Given the description of an element on the screen output the (x, y) to click on. 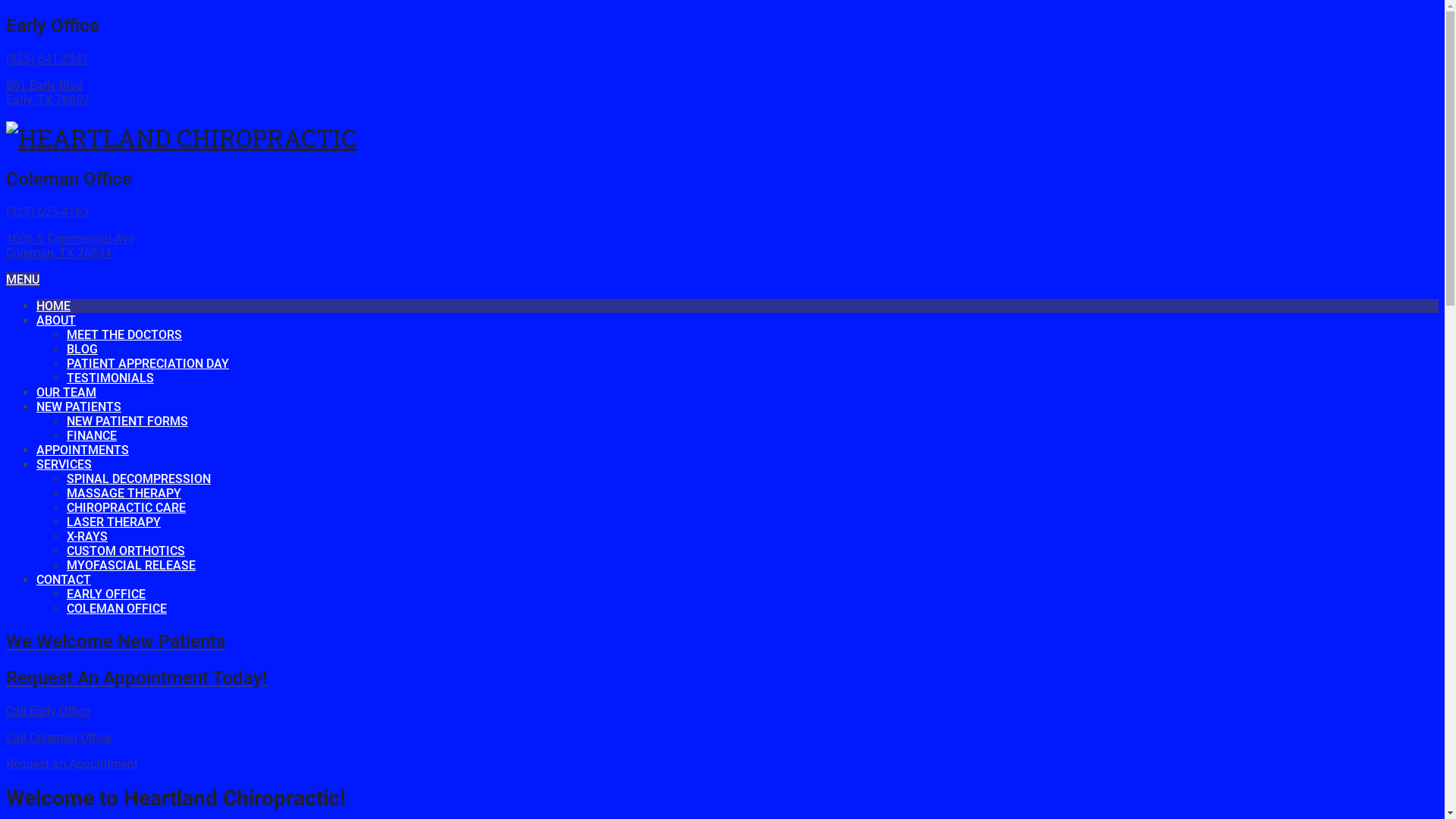
MYOFASCIAL RELEASE Element type: text (130, 565)
NEW PATIENTS Element type: text (78, 406)
OUR TEAM Element type: text (66, 392)
CONTACT Element type: text (63, 579)
MEET THE DOCTORS Element type: text (124, 334)
(325) 625-4163 Element type: text (47, 211)
FINANCE Element type: text (91, 435)
CHIROPRACTIC CARE Element type: text (125, 507)
Call Early Office Element type: text (48, 710)
X-RAYS Element type: text (86, 536)
TESTIMONIALS Element type: text (109, 377)
LASER THERAPY Element type: text (113, 521)
CUSTOM ORTHOTICS Element type: text (125, 550)
SERVICES Element type: text (63, 464)
801 Early Blvd
Early, TX 76802 Element type: text (47, 92)
SPINAL DECOMPRESSION Element type: text (138, 478)
Request An Appointment Today! Element type: text (722, 677)
(325) 641-2541 Element type: text (47, 58)
Call Coleman Office Element type: text (58, 737)
We Welcome New Patients Element type: text (722, 641)
BLOG Element type: text (81, 349)
APPOINTMENTS Element type: text (82, 449)
HOME Element type: text (53, 305)
NEW PATIENT FORMS Element type: text (127, 421)
MASSAGE THERAPY Element type: text (123, 493)
COLEMAN OFFICE Element type: text (116, 608)
MENU Element type: text (22, 279)
PATIENT APPRECIATION DAY Element type: text (147, 363)
1606 S Commercial Ave
Coleman, TX 76834 Element type: text (70, 245)
Request an Appointment Element type: text (72, 763)
EARLY OFFICE Element type: text (105, 593)
ABOUT Element type: text (55, 320)
